Given the description of an element on the screen output the (x, y) to click on. 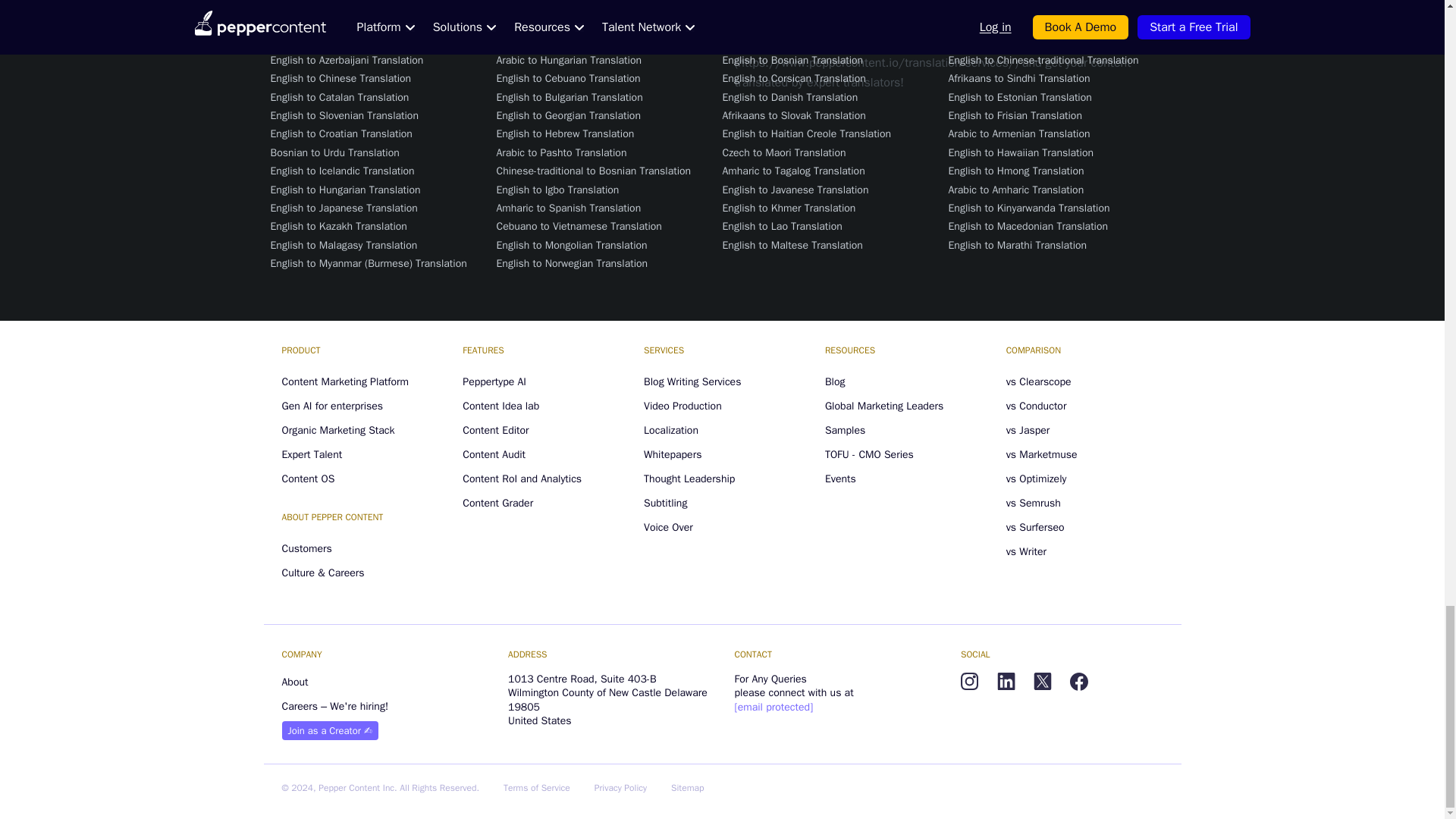
twitter (1042, 681)
linkedin (1005, 681)
instagram (969, 681)
facebook (1078, 681)
